Given the description of an element on the screen output the (x, y) to click on. 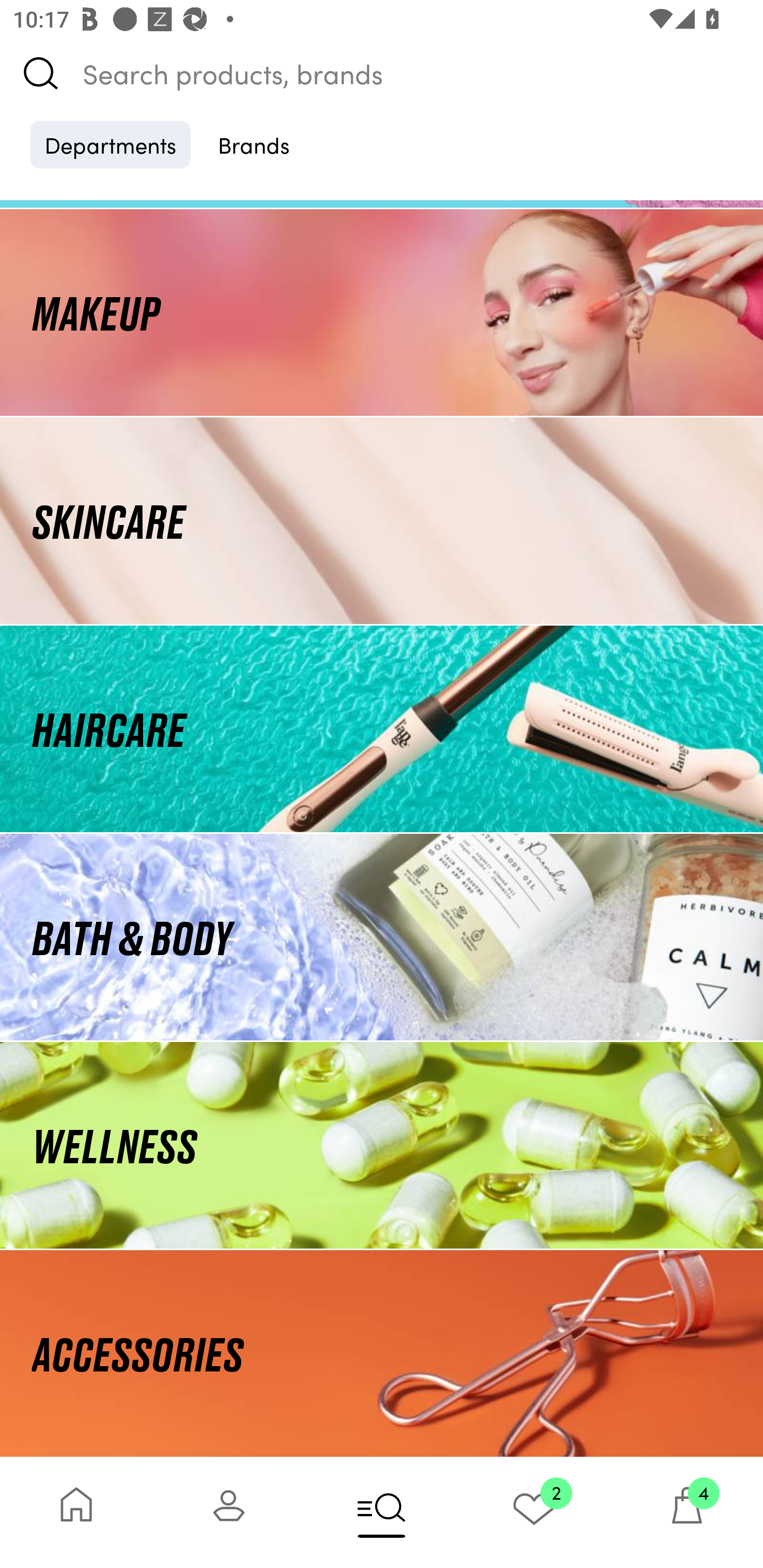
Search products, brands (381, 72)
Departments (110, 143)
Brands (253, 143)
MAKEUP (381, 311)
SKINCARE (381, 520)
HAIRCARE (381, 728)
BATH & BODY (381, 937)
WELLNESS (381, 1145)
ACCESSORIES (381, 1352)
2 (533, 1512)
4 (686, 1512)
